Given the description of an element on the screen output the (x, y) to click on. 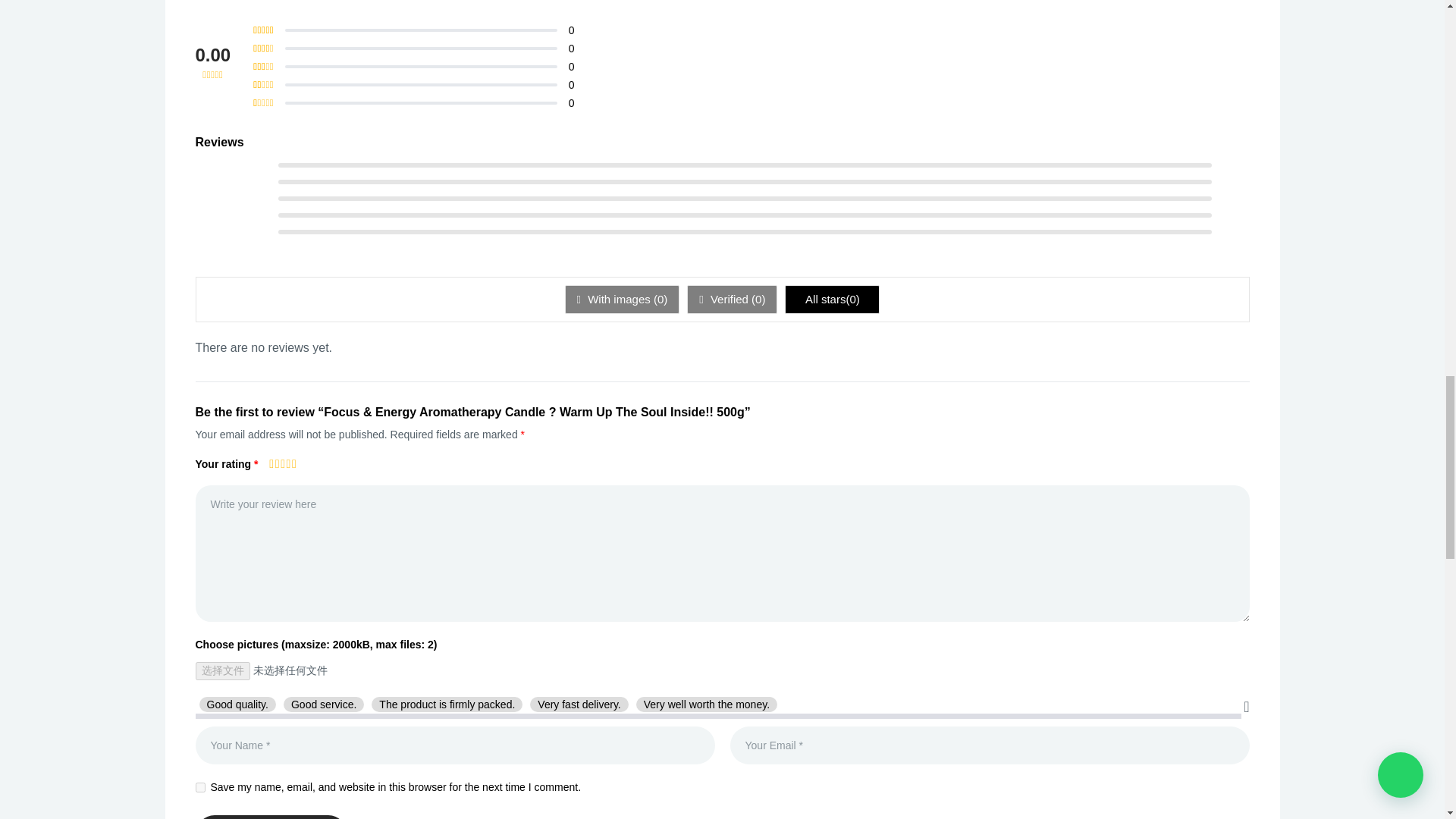
Submit (271, 816)
yes (200, 787)
